Given the description of an element on the screen output the (x, y) to click on. 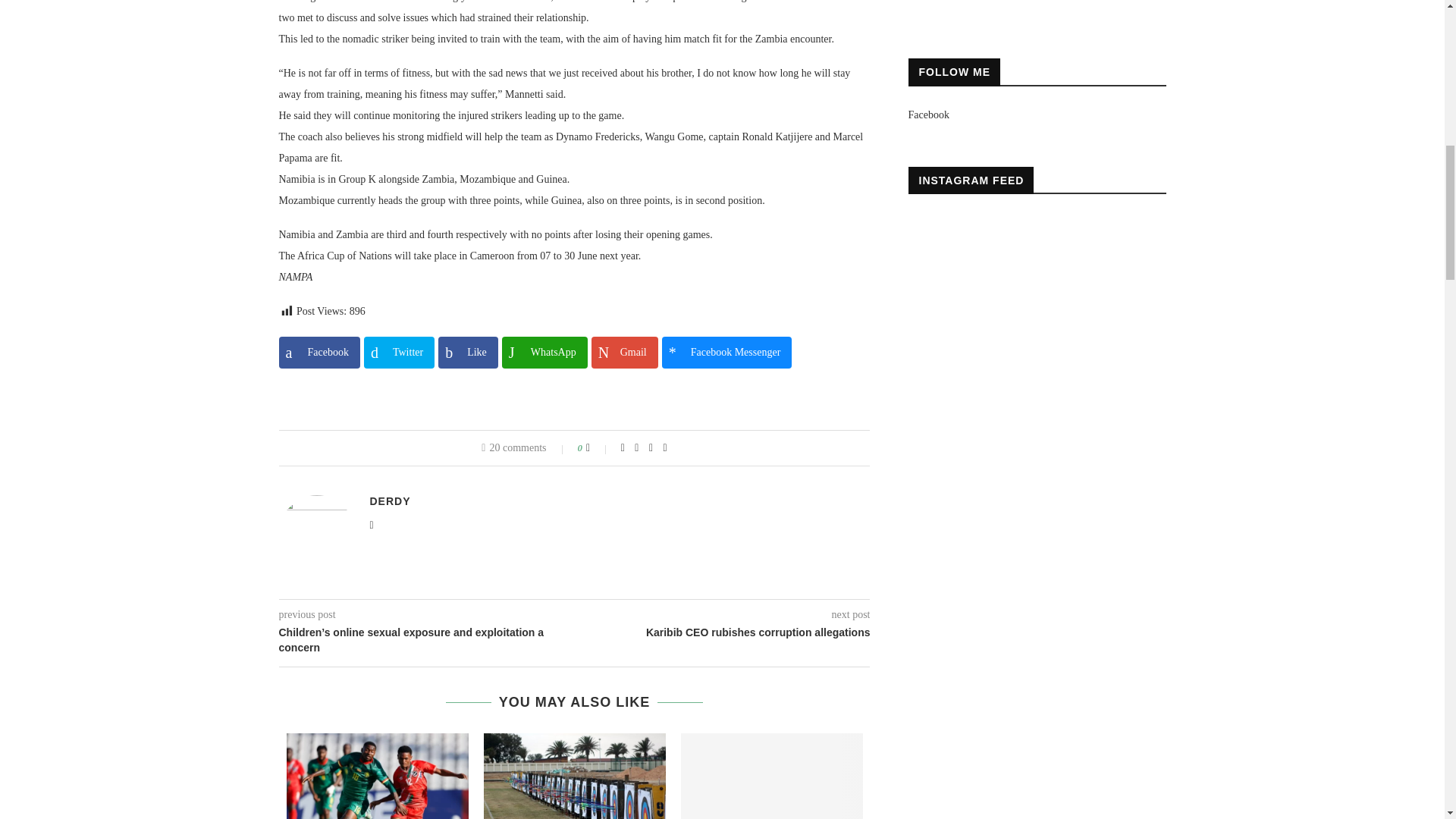
Share on WhatsApp (545, 352)
Share on Gmail (624, 352)
Share on Like (467, 352)
Share on Facebook (319, 352)
Share on Twitter (398, 352)
